Given the description of an element on the screen output the (x, y) to click on. 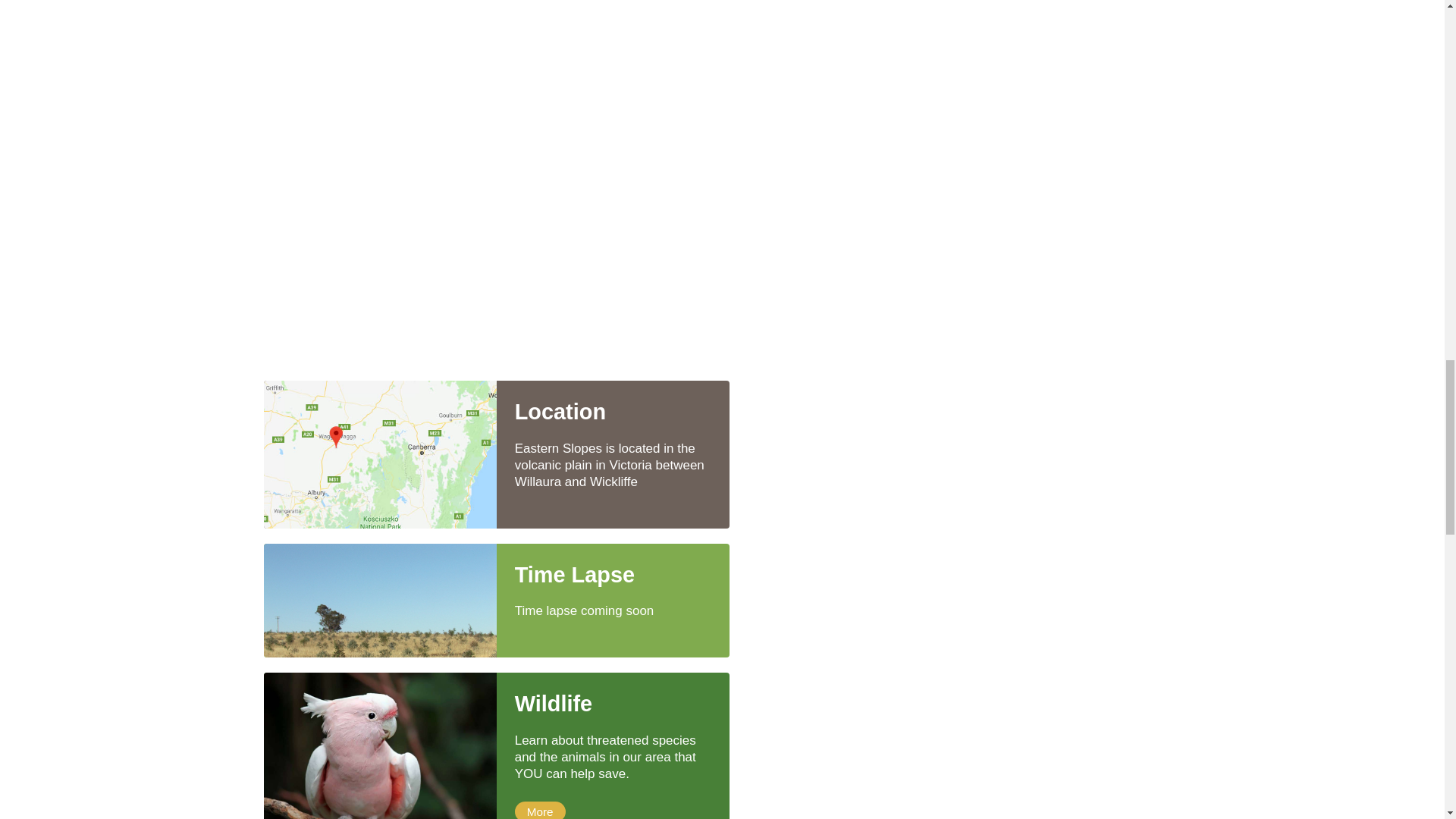
More (540, 810)
Wildlife (613, 704)
